Given the description of an element on the screen output the (x, y) to click on. 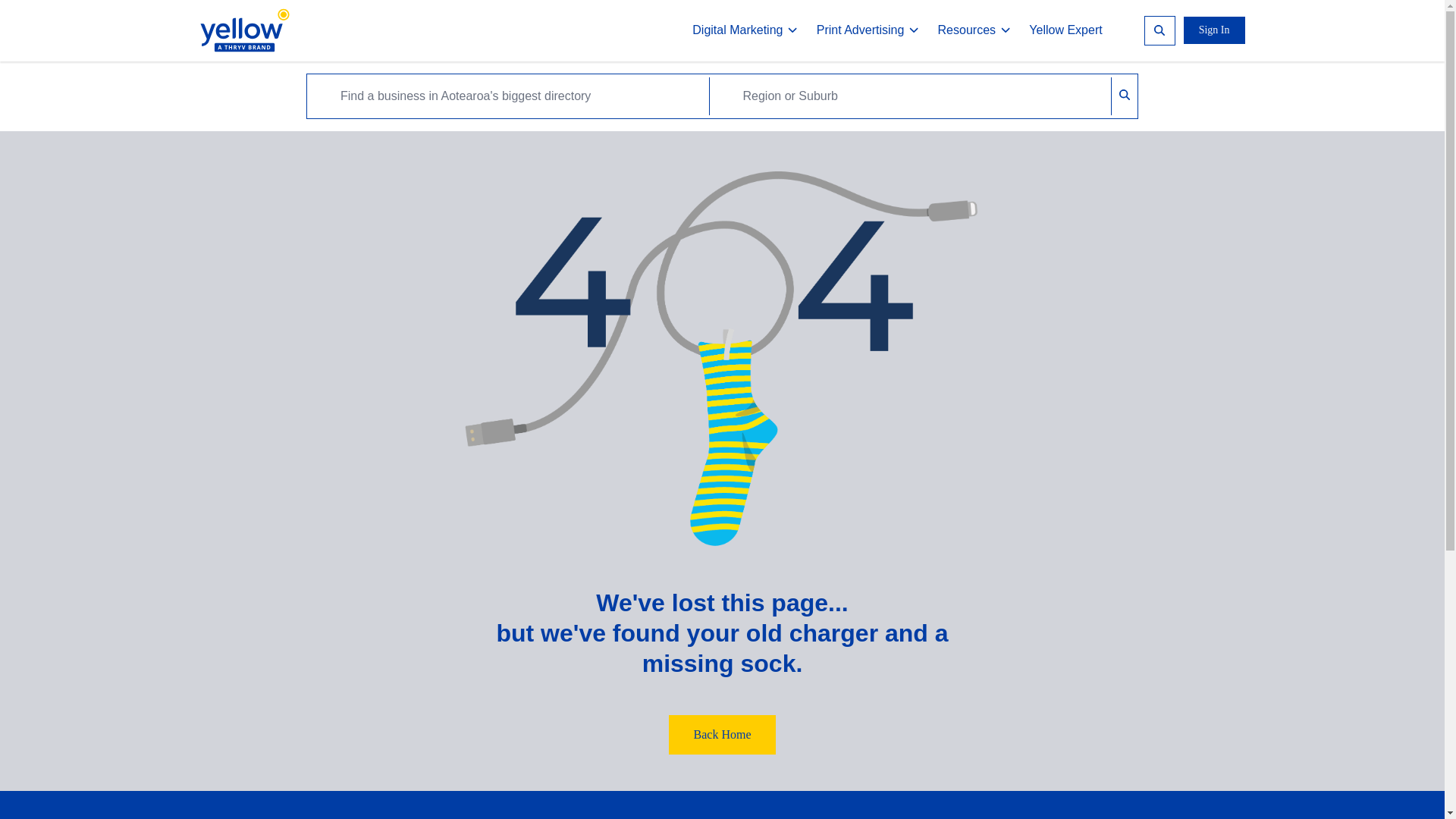
Resources (973, 29)
Digital Marketing (744, 29)
Print Advertising (867, 29)
